Given the description of an element on the screen output the (x, y) to click on. 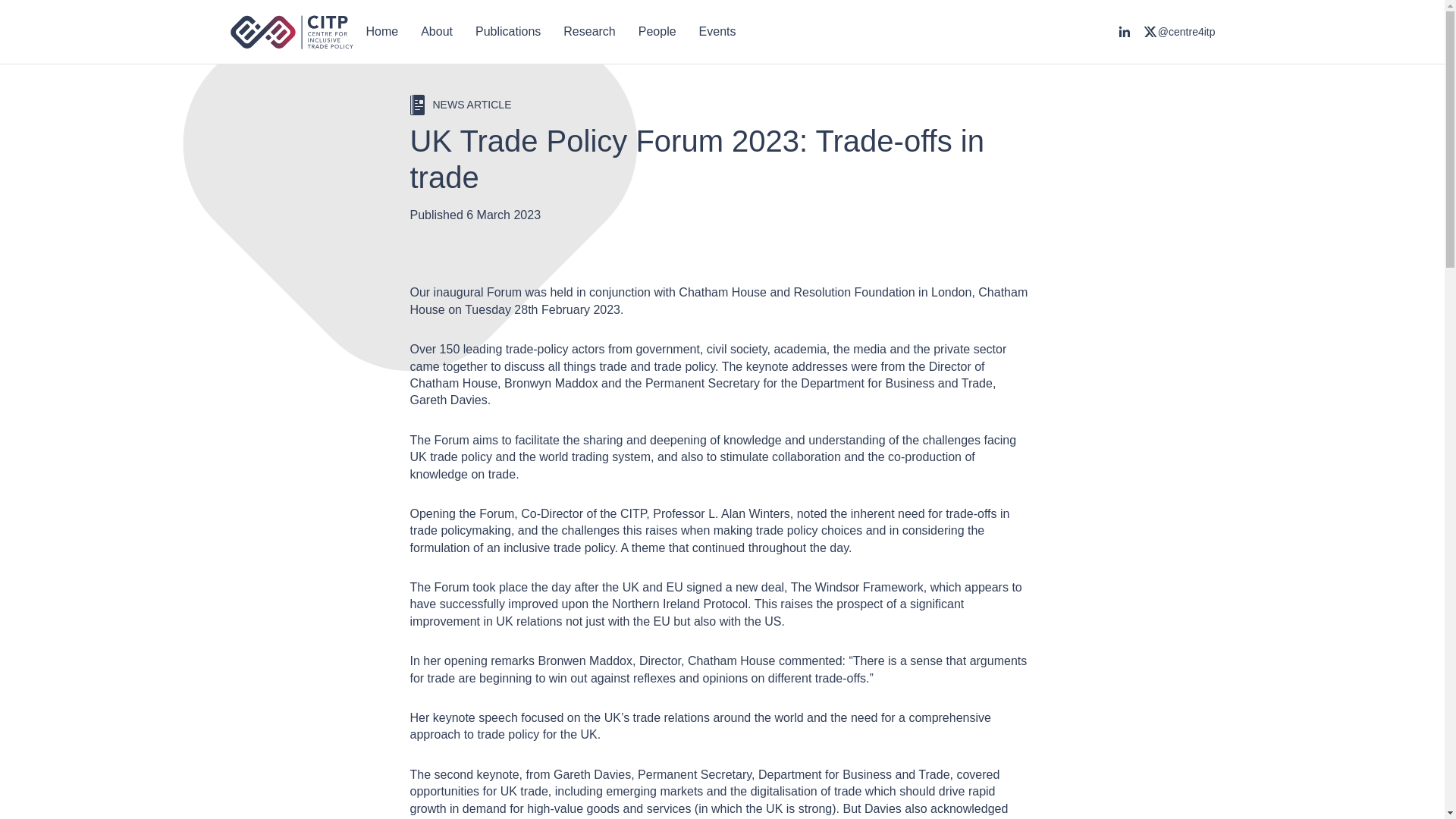
LinkedIn (1124, 31)
Subscribe (531, 600)
Events (717, 31)
Centre for Inclusive Trade Policy home page (290, 32)
Research (588, 31)
People (657, 31)
Home (382, 31)
About (436, 31)
Publications (507, 31)
